Given the description of an element on the screen output the (x, y) to click on. 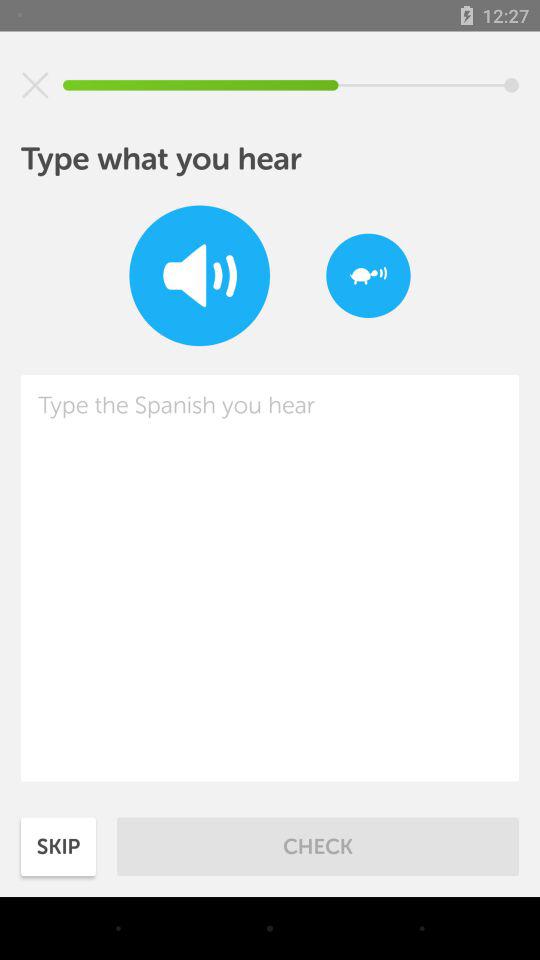
flip until the check item (318, 846)
